Given the description of an element on the screen output the (x, y) to click on. 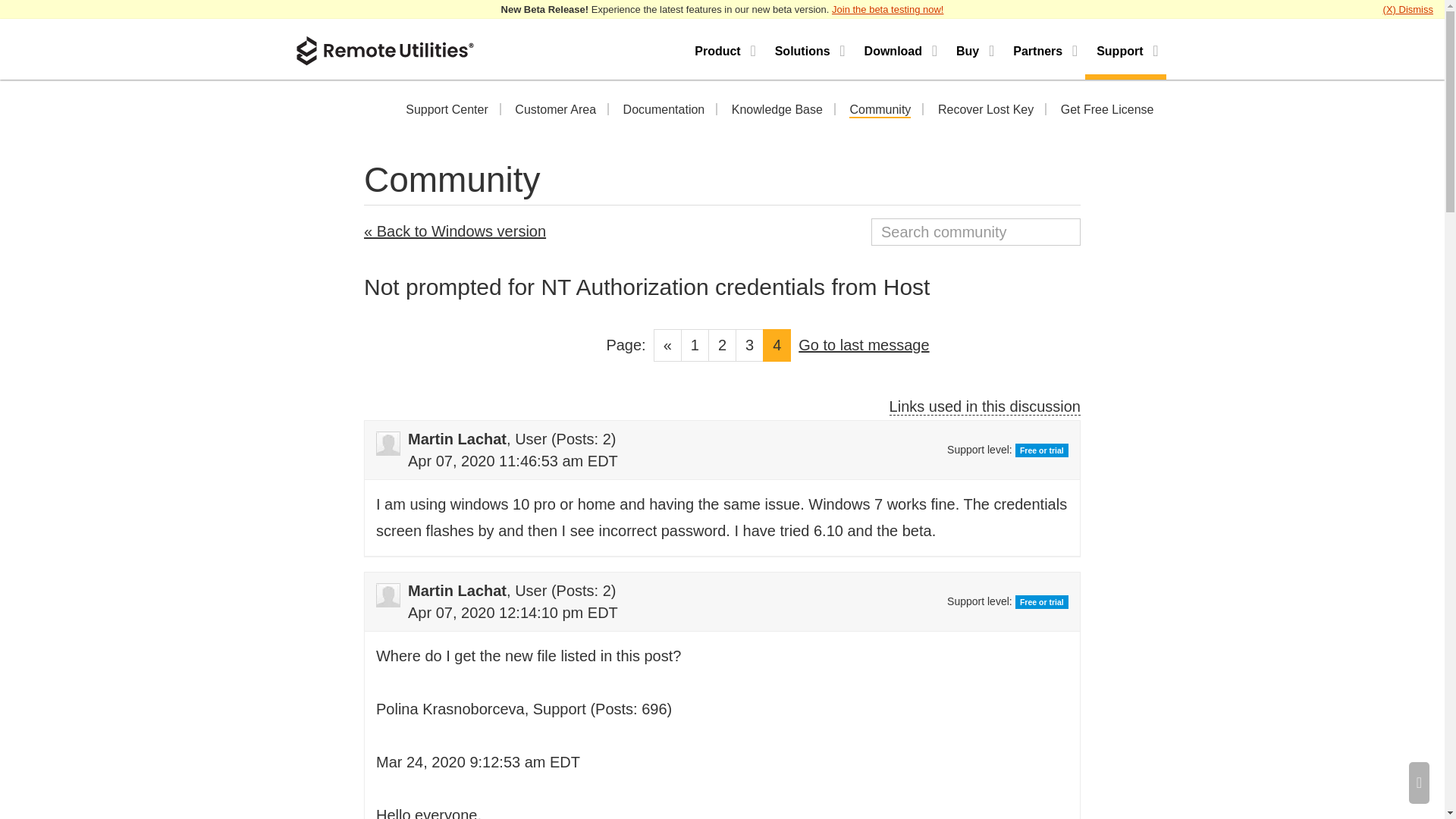
Join the beta testing now! (887, 9)
Partners (1042, 48)
Support Center (446, 110)
Buy (972, 48)
Support (1125, 48)
Solutions (807, 48)
Download (898, 48)
Product (722, 48)
